Given the description of an element on the screen output the (x, y) to click on. 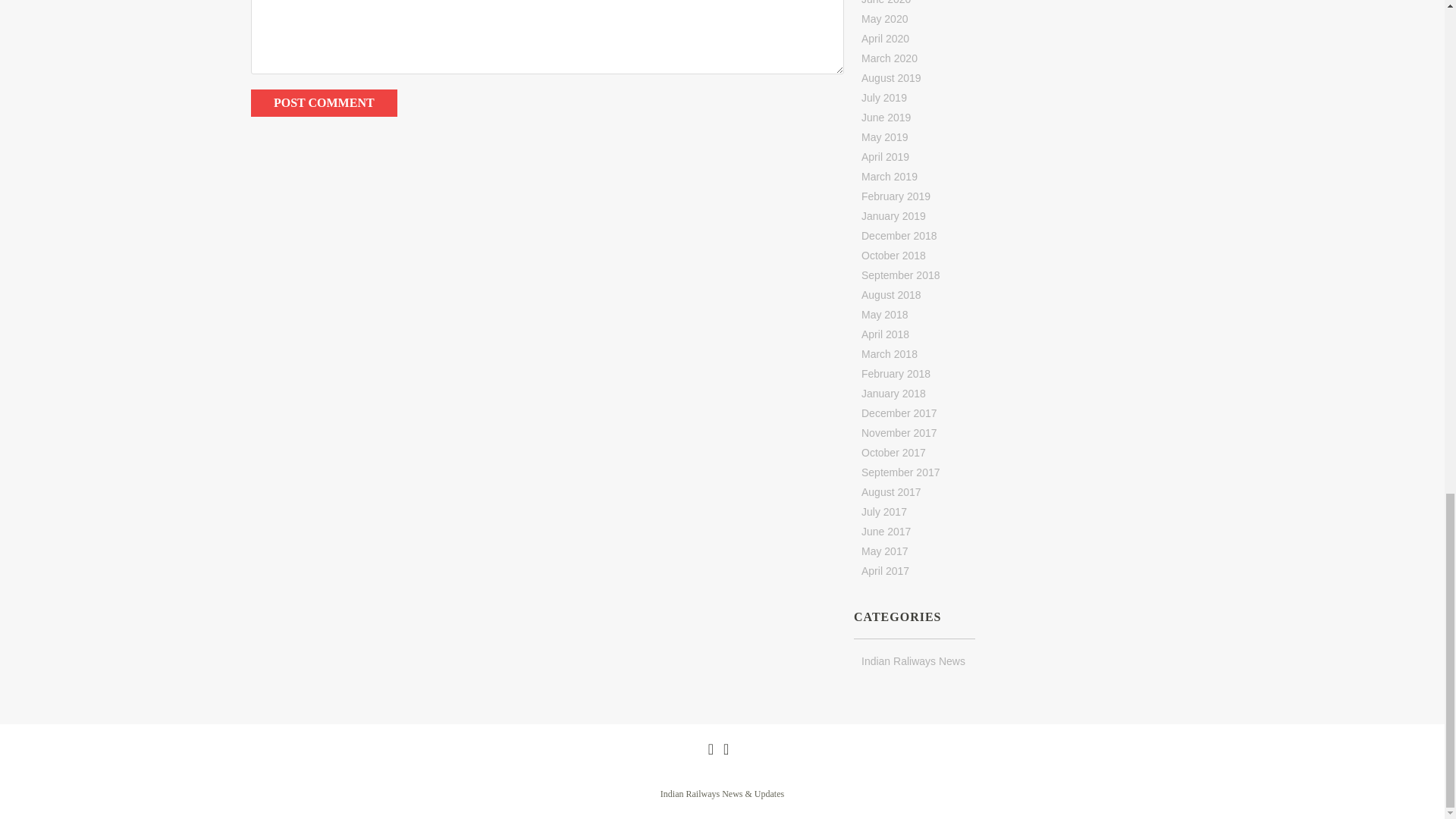
POST COMMENT (323, 103)
POST COMMENT (323, 103)
